Given the description of an element on the screen output the (x, y) to click on. 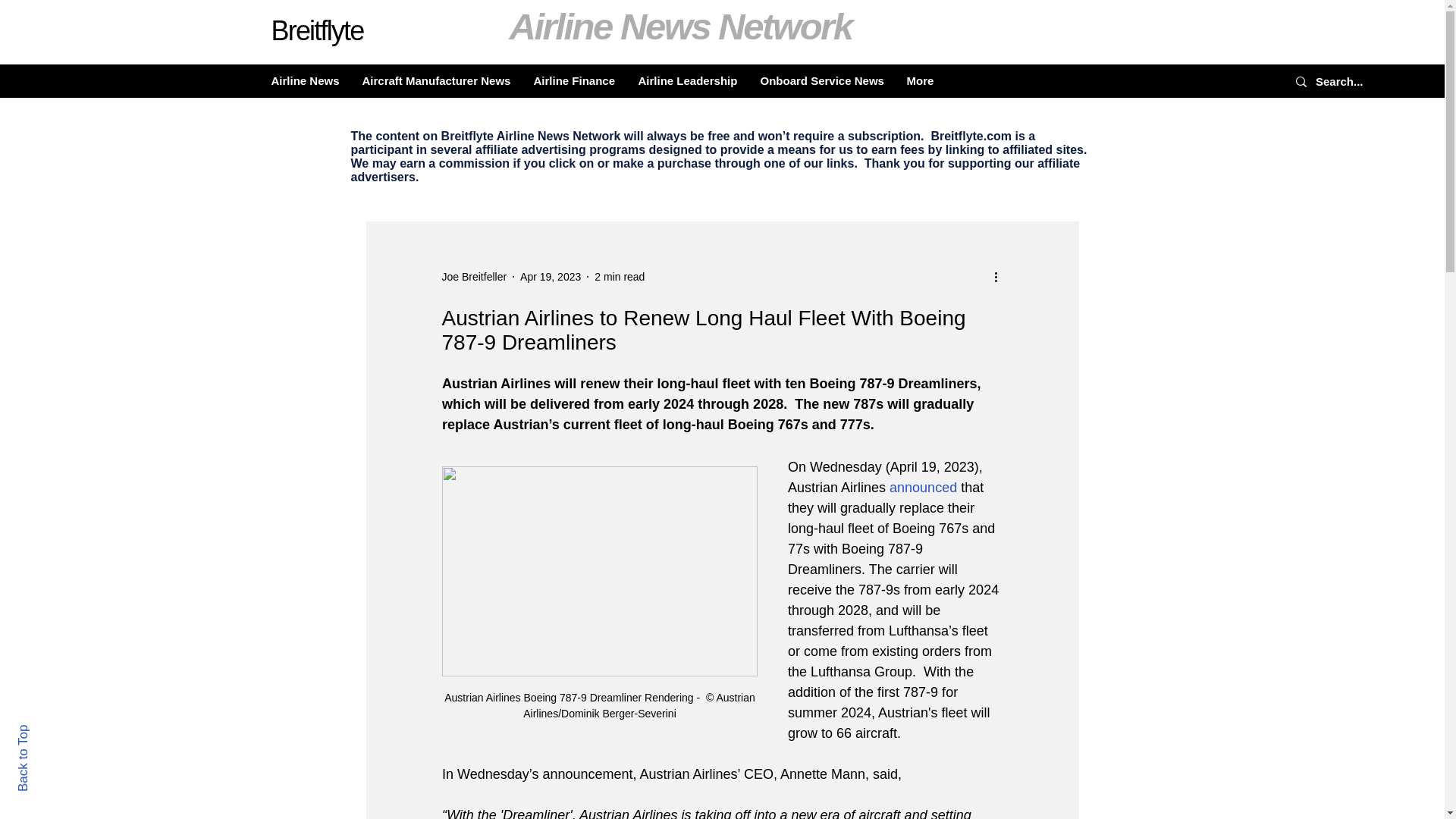
announced (922, 487)
Back to Top (49, 730)
Aircraft Manufacturer News (435, 81)
Apr 19, 2023 (549, 275)
2 min read (619, 275)
Airline News (304, 81)
Airline Leadership (687, 81)
Onboard Service News (822, 81)
Breitflyte (317, 30)
Joe Breitfeller (473, 276)
Airline Finance (573, 81)
Joe Breitfeller (473, 276)
